Given the description of an element on the screen output the (x, y) to click on. 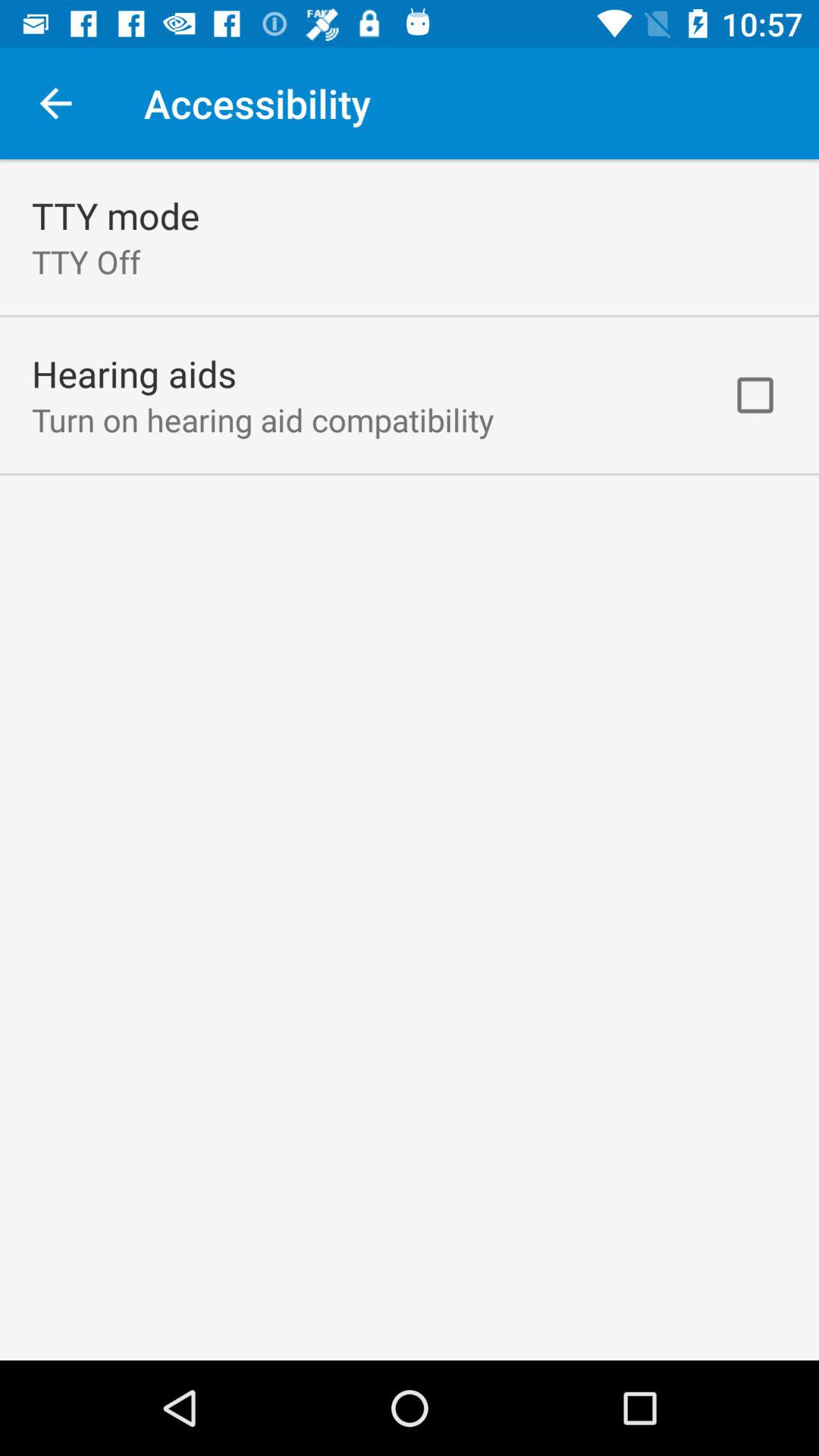
select the app above the hearing aids item (85, 261)
